Given the description of an element on the screen output the (x, y) to click on. 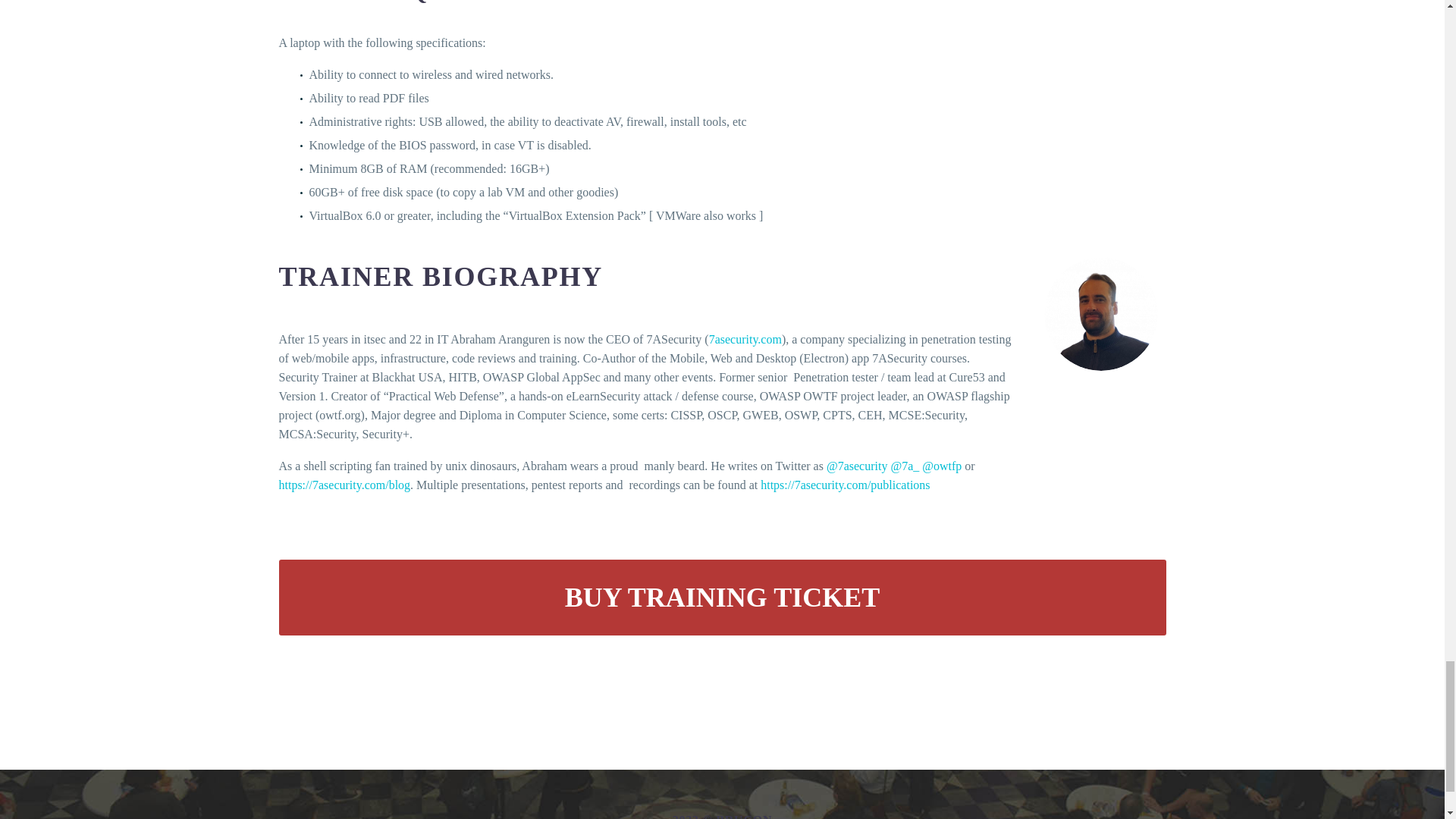
profile (1100, 314)
